Given the description of an element on the screen output the (x, y) to click on. 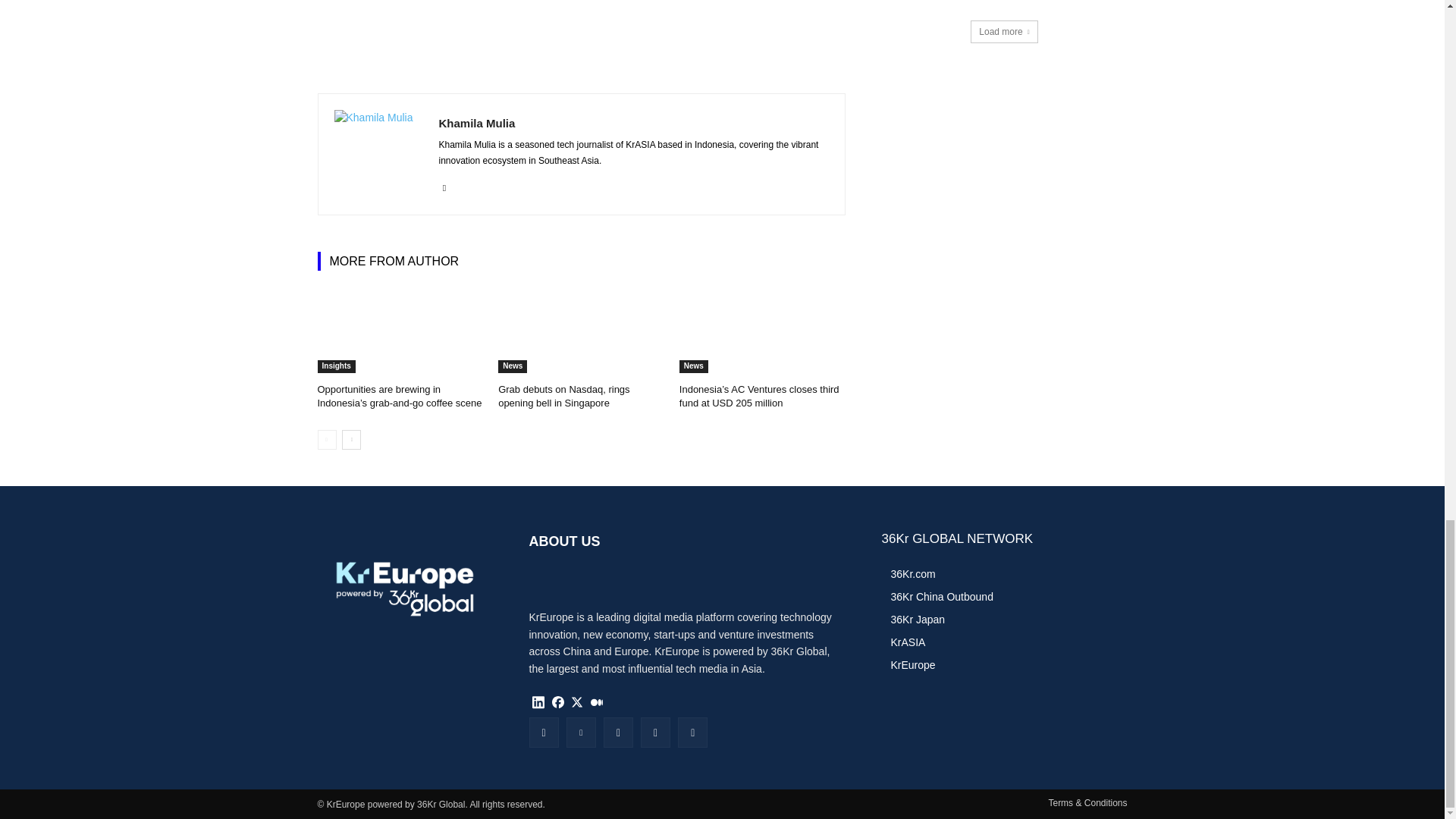
Khamila Mulia (633, 123)
Linkedin (443, 184)
Khamila Mulia (377, 154)
